Given the description of an element on the screen output the (x, y) to click on. 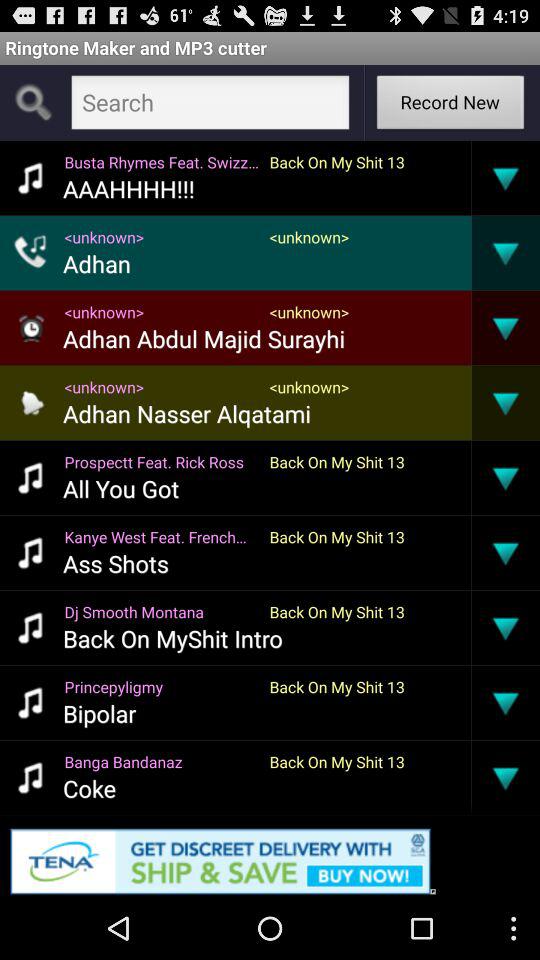
click the item to the right of back on my (471, 702)
